Given the description of an element on the screen output the (x, y) to click on. 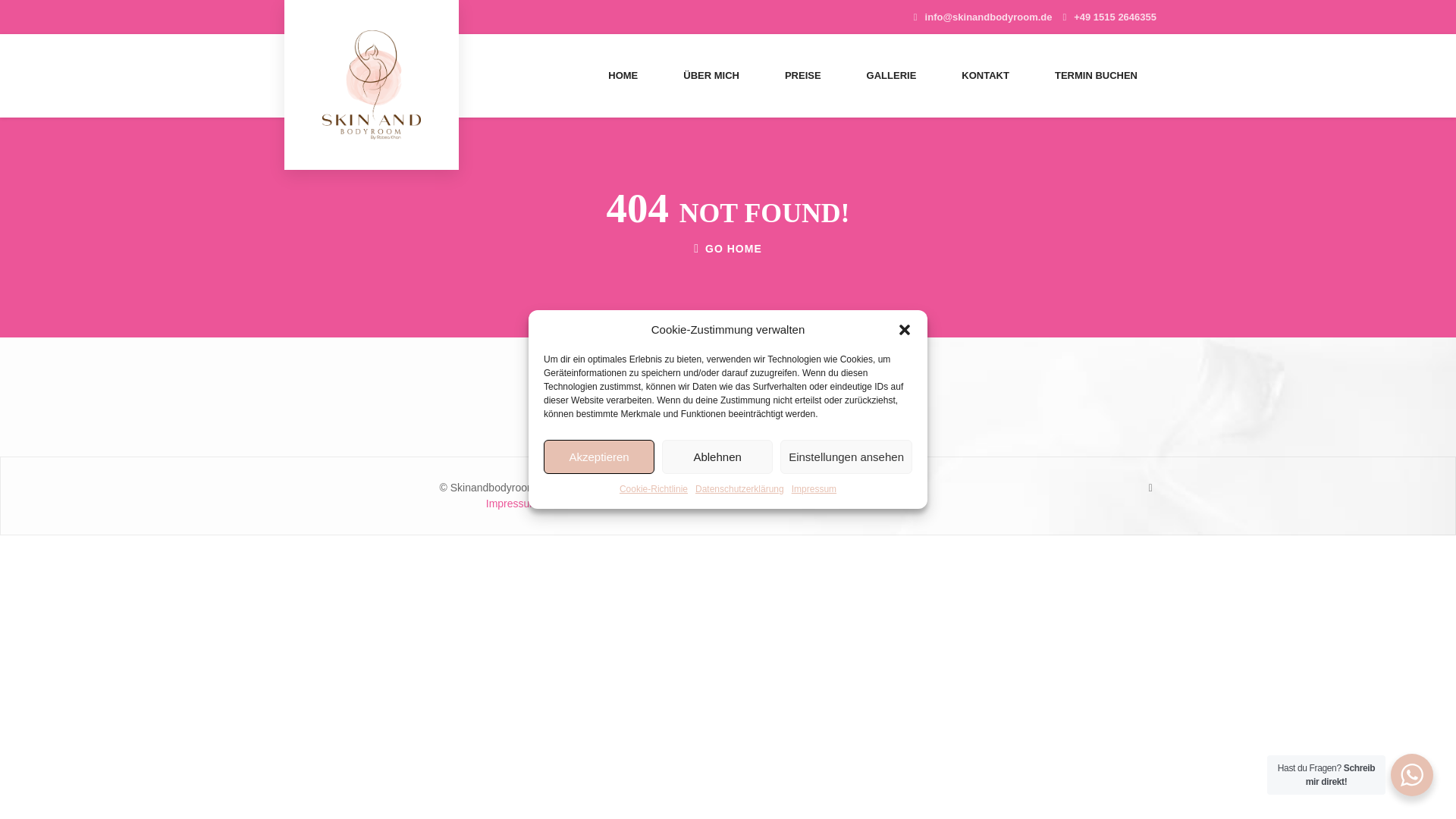
Einstellungen ansehen (846, 456)
Cookie-Richtlinie (653, 489)
Ablehnen (717, 456)
HOME (623, 75)
KONTAKT (985, 75)
Datenschutz (570, 503)
TERMIN BUCHEN (1096, 75)
Impressum (813, 489)
Impressum (512, 503)
PREISE (802, 75)
